Given the description of an element on the screen output the (x, y) to click on. 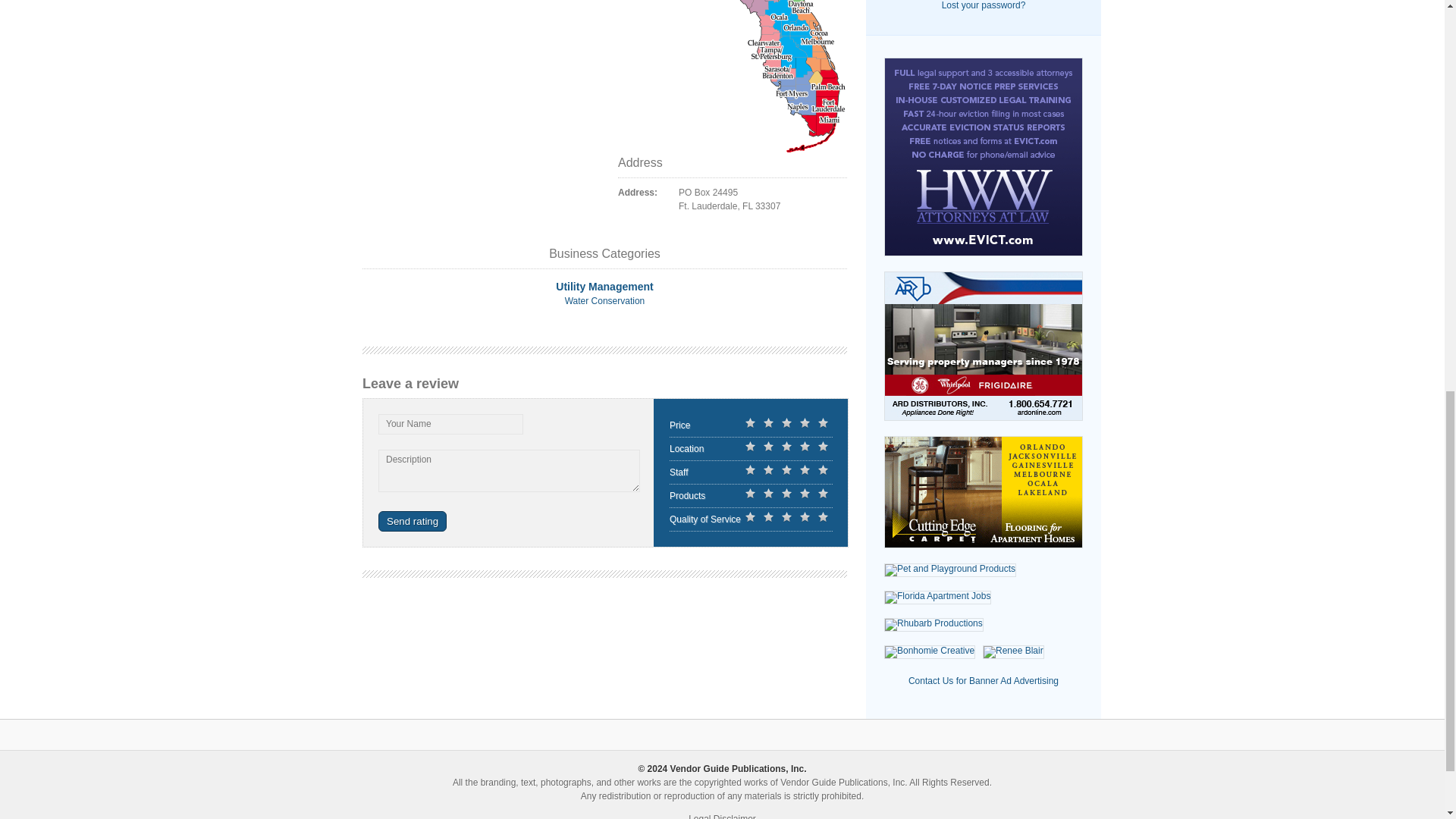
Send rating (412, 521)
Utility Management (604, 286)
Lost your password? (984, 5)
Contact Us for Banner Ad Advertising (983, 680)
Water Conservation (604, 300)
